Given the description of an element on the screen output the (x, y) to click on. 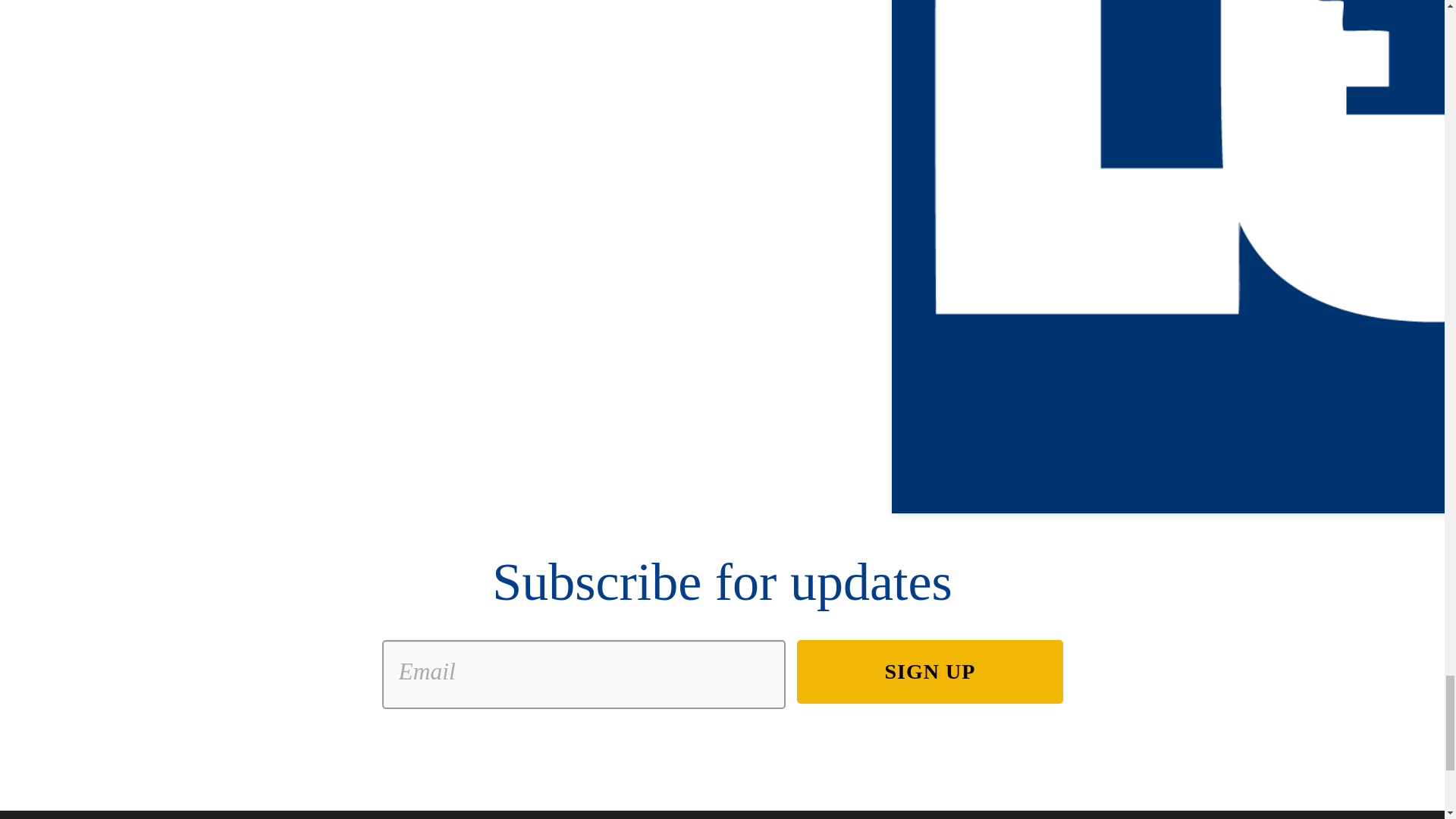
SIGN UP (929, 671)
